Given the description of an element on the screen output the (x, y) to click on. 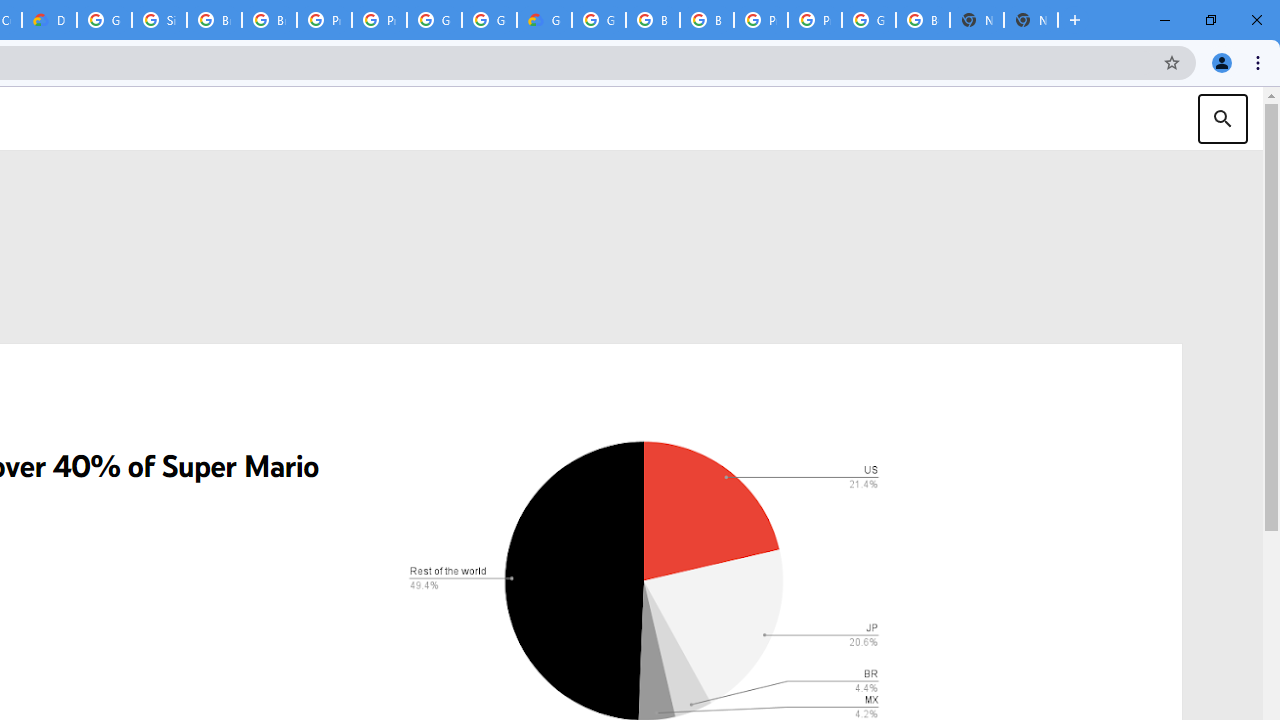
Browse Chrome as a guest - Computer - Google Chrome Help (213, 20)
Google Cloud Platform (868, 20)
Google Cloud Platform (103, 20)
